Given the description of an element on the screen output the (x, y) to click on. 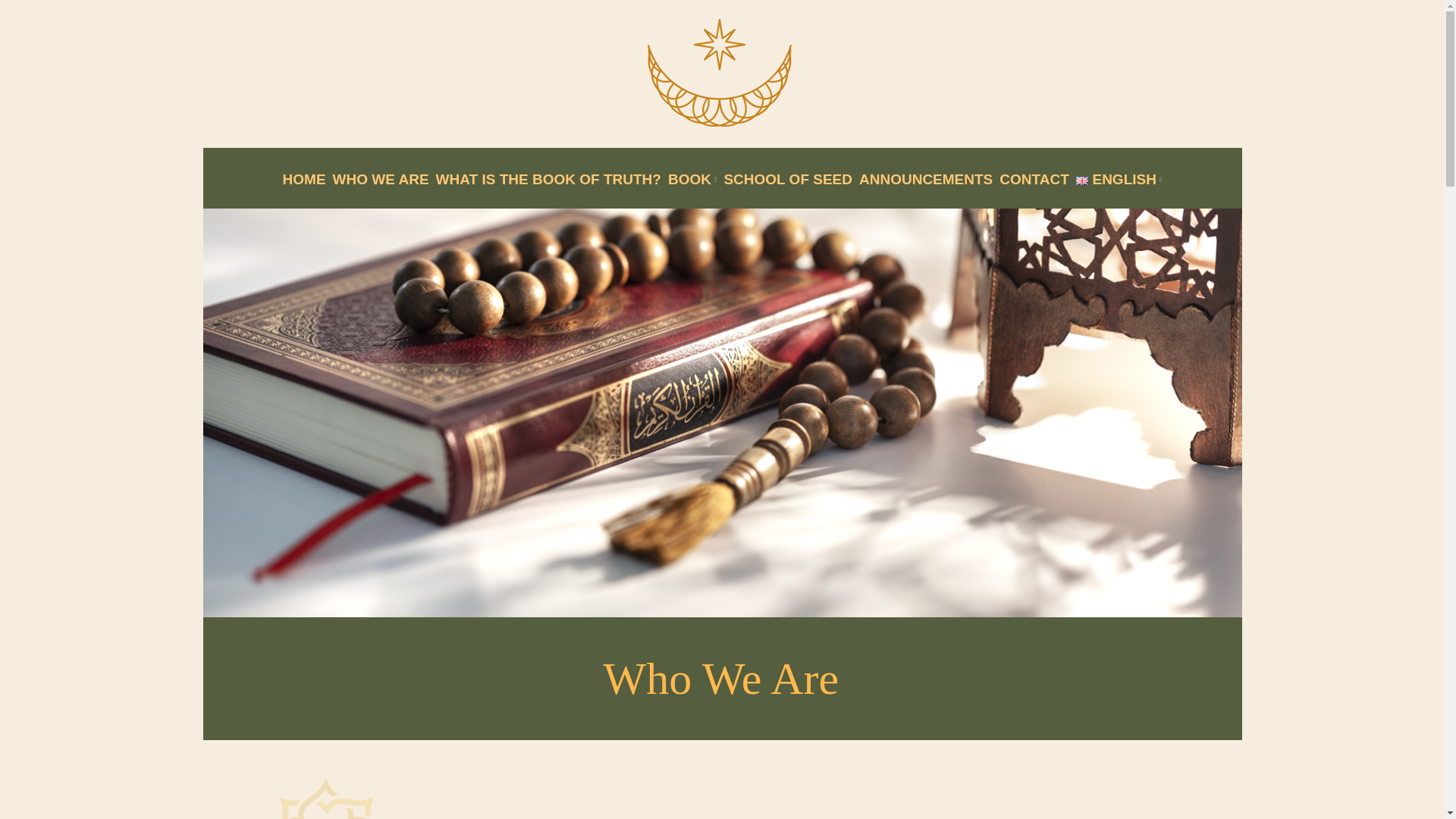
WHO WE ARE (381, 180)
BOOK (692, 180)
WHAT IS THE BOOK OF TRUTH? (548, 180)
HOME (304, 180)
